Given the description of an element on the screen output the (x, y) to click on. 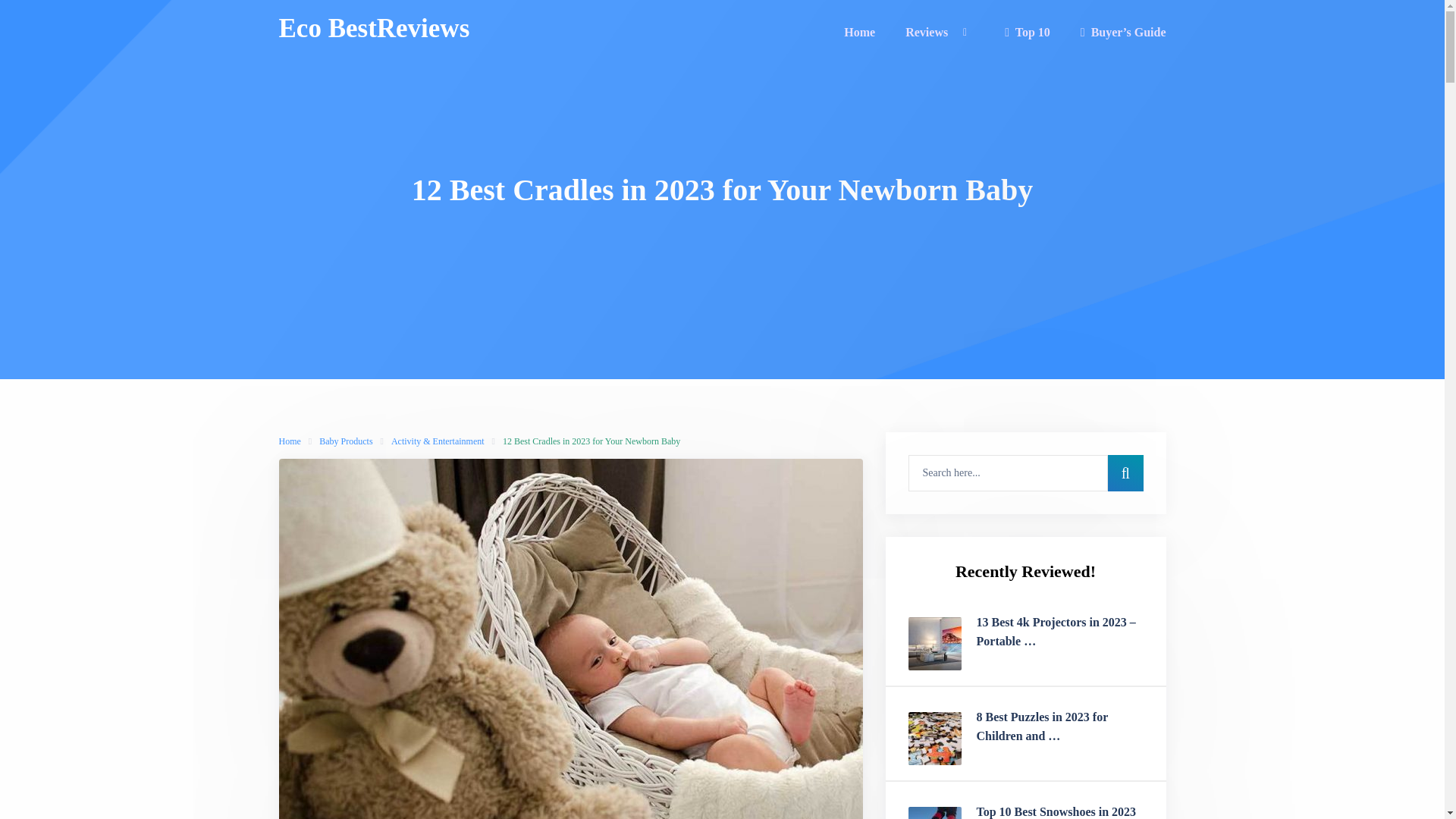
Baby Products (345, 440)
Top 10 (1026, 35)
Home (290, 440)
Eco BestReviews (374, 28)
Reviews (933, 35)
